Given the description of an element on the screen output the (x, y) to click on. 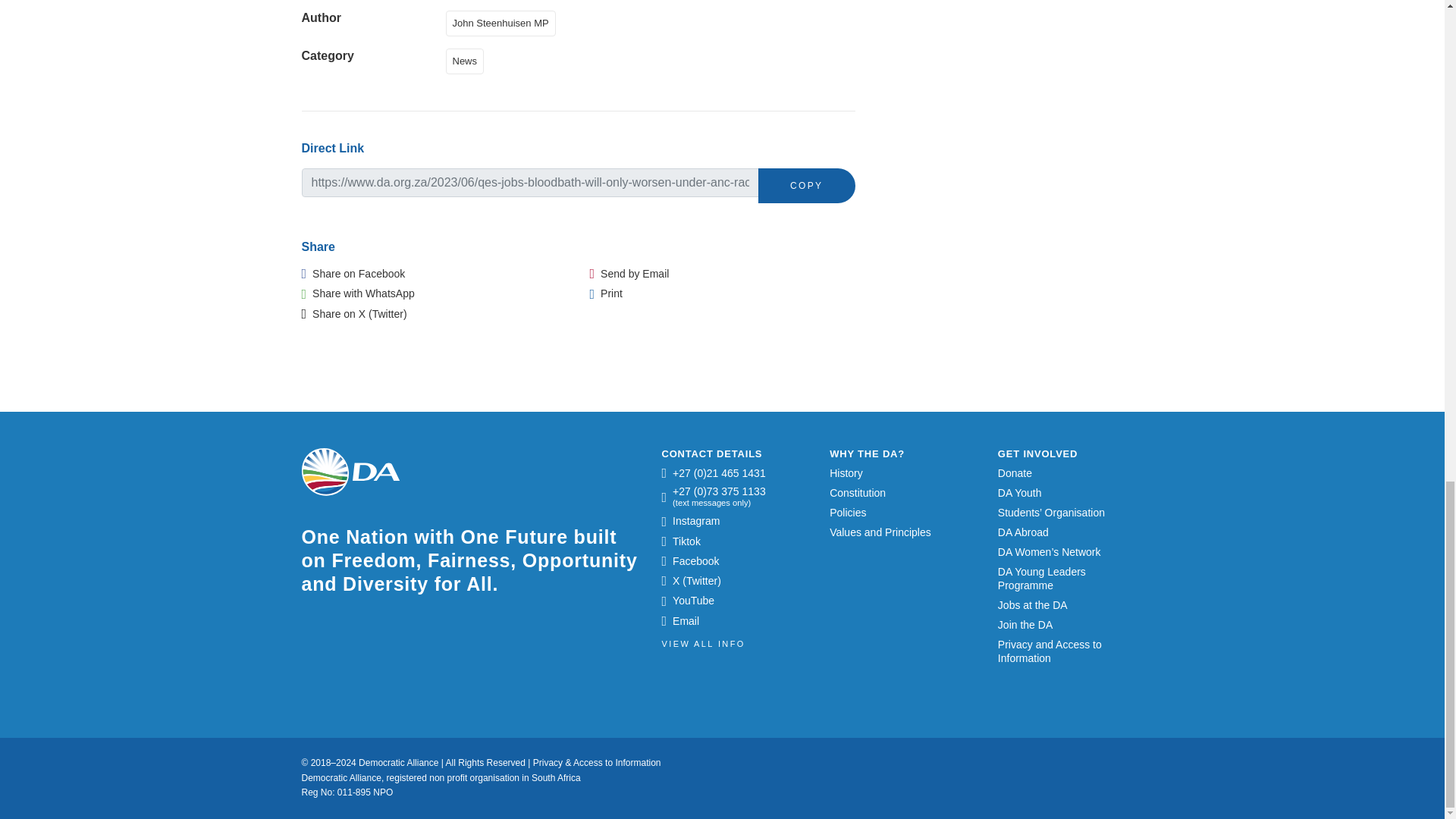
Share on Facebook (353, 273)
News (467, 60)
Share with WhatsApp (357, 293)
COPY (807, 185)
Democratic Alliance Logo (350, 471)
